Given the description of an element on the screen output the (x, y) to click on. 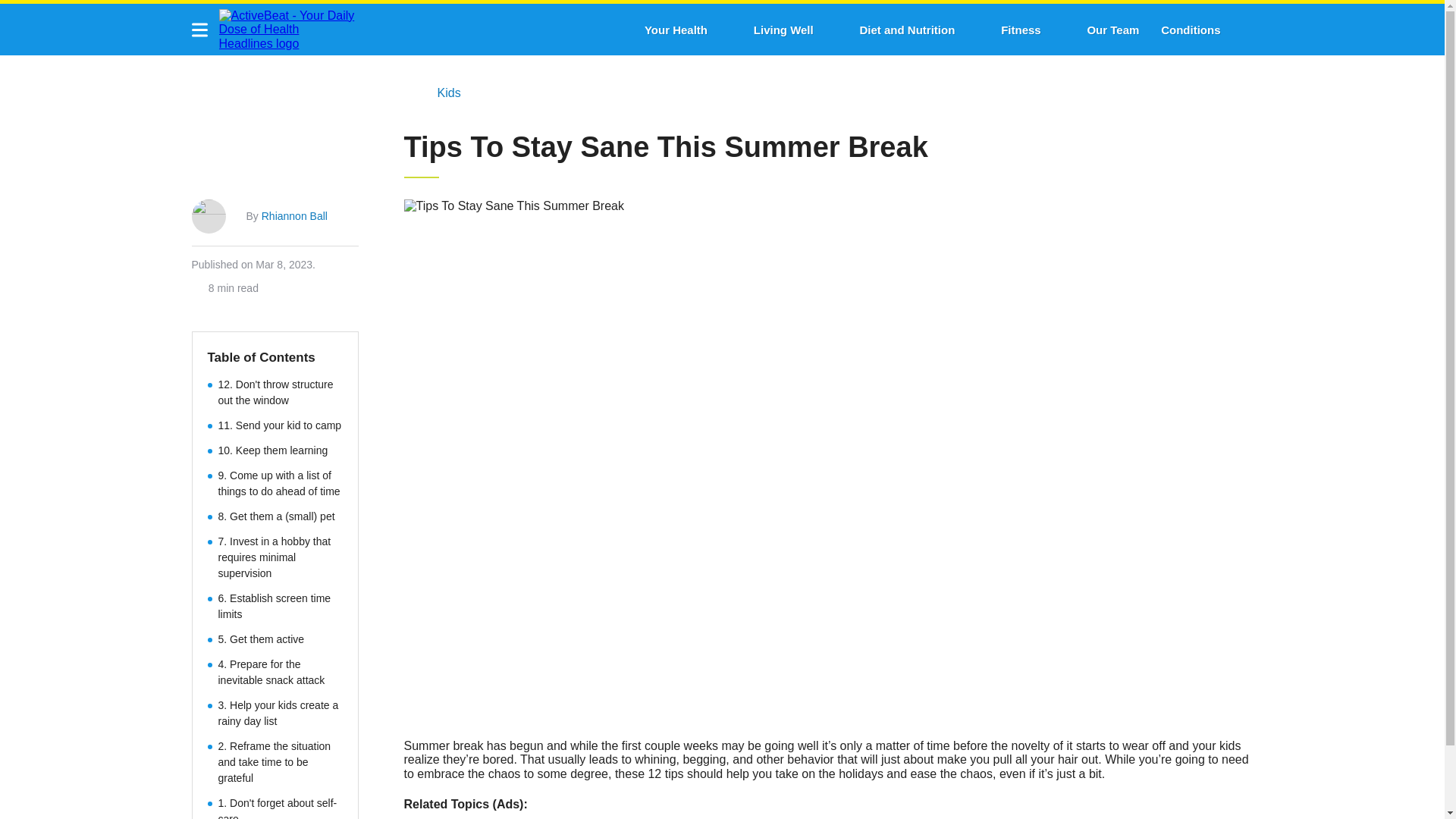
Your Health (676, 29)
